Given the description of an element on the screen output the (x, y) to click on. 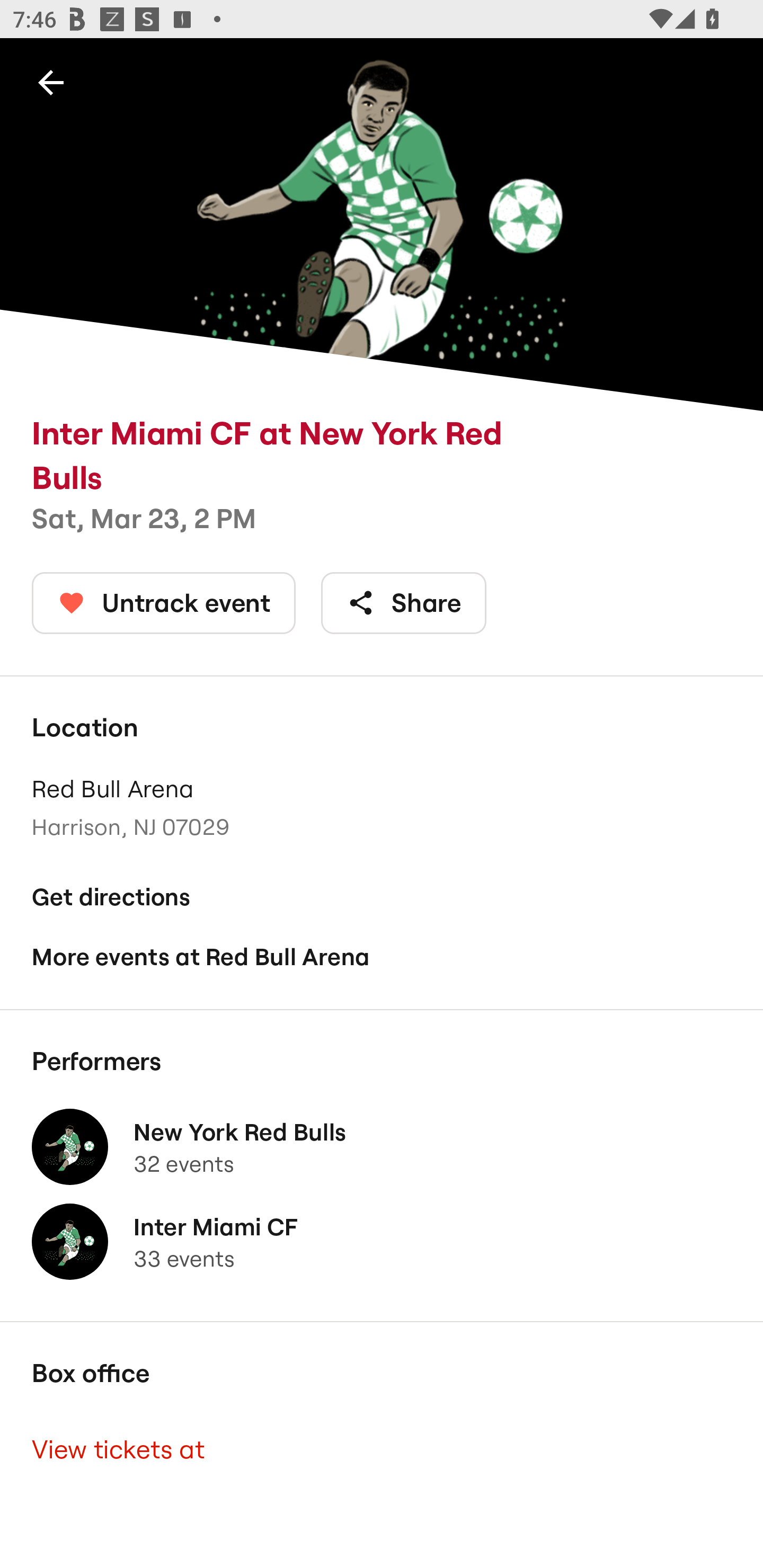
Back (50, 81)
Untrack event (164, 602)
Share (403, 602)
Get directions (381, 896)
More events at Red Bull Arena (381, 956)
New York Red Bulls 32 events (381, 1146)
Inter Miami CF 33 events (381, 1241)
View tickets at  (381, 1449)
